Given the description of an element on the screen output the (x, y) to click on. 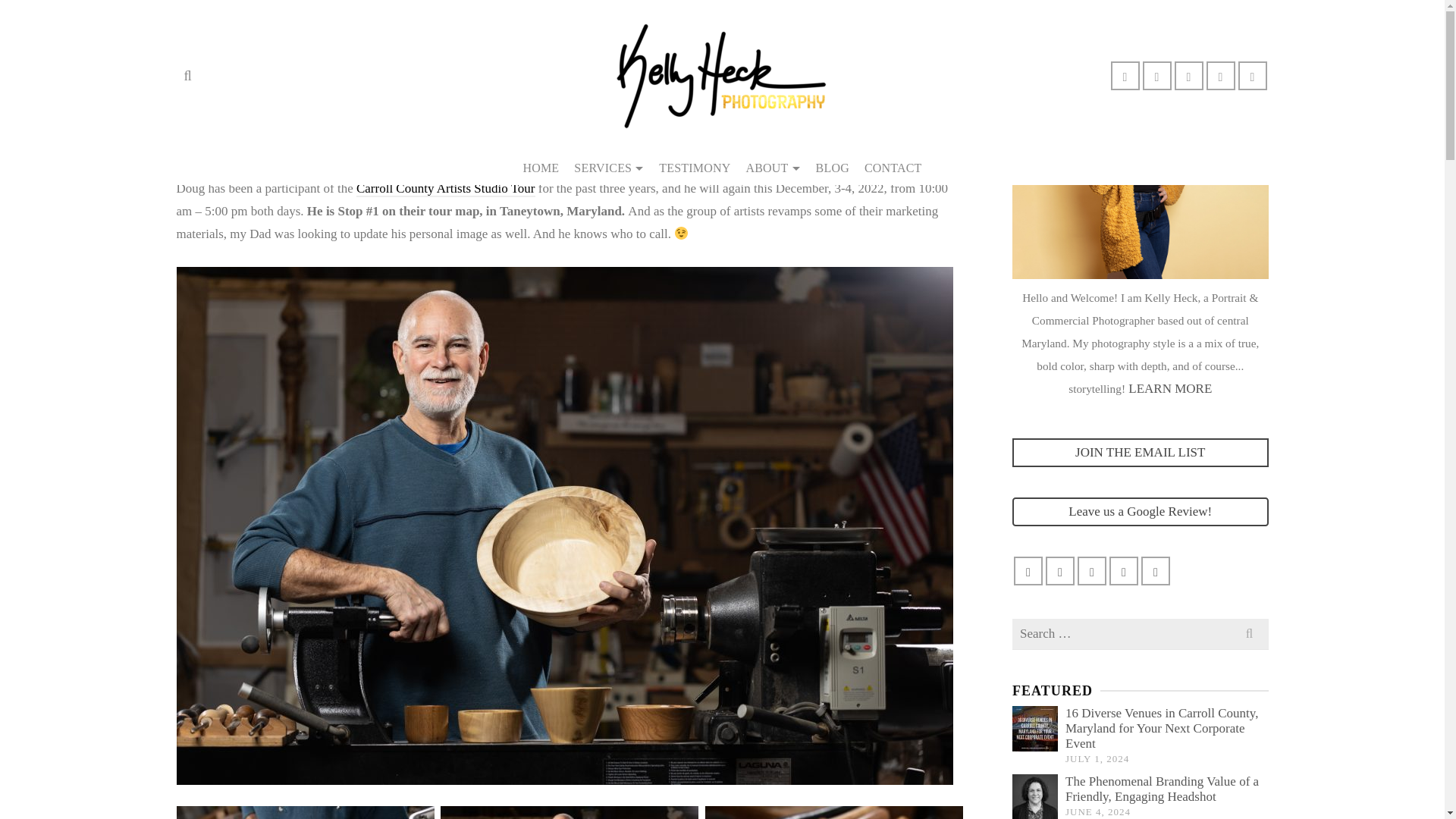
SERVICES (608, 168)
CONTACT (893, 168)
Instagram (751, 148)
HOME (540, 168)
Facebook (672, 148)
ABOUT (773, 168)
TESTIMONY (694, 168)
Carroll County Artists Studio Tour (445, 188)
Website (620, 148)
BLOG (832, 168)
KELLYHECK (308, 79)
